Given the description of an element on the screen output the (x, y) to click on. 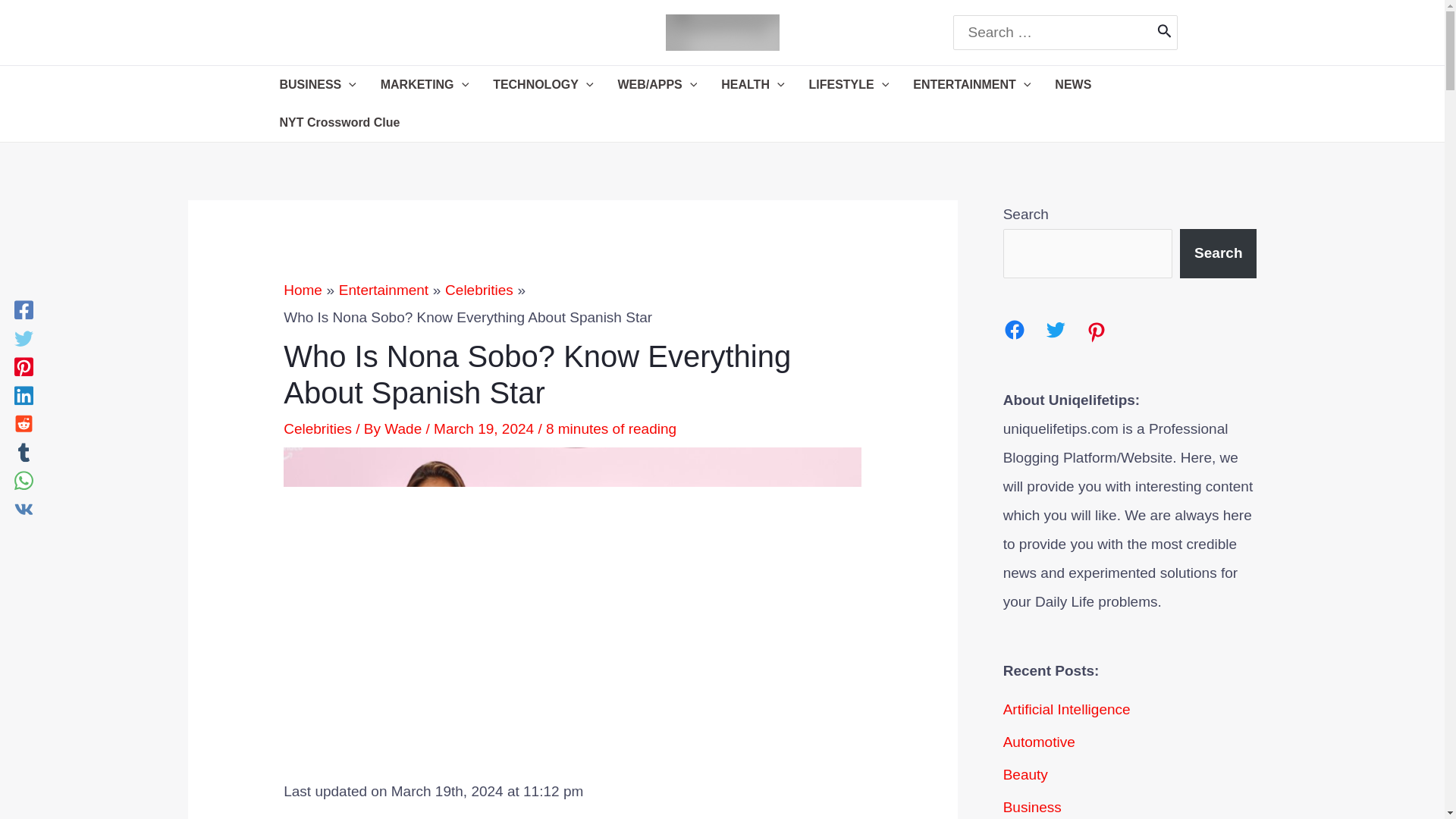
MARKETING (424, 85)
BUSINESS (317, 85)
LIFESTYLE (848, 85)
ENTERTAINMENT (971, 85)
TECHNOLOGY (542, 85)
HEALTH (752, 85)
View all posts by Wade (404, 428)
